Given the description of an element on the screen output the (x, y) to click on. 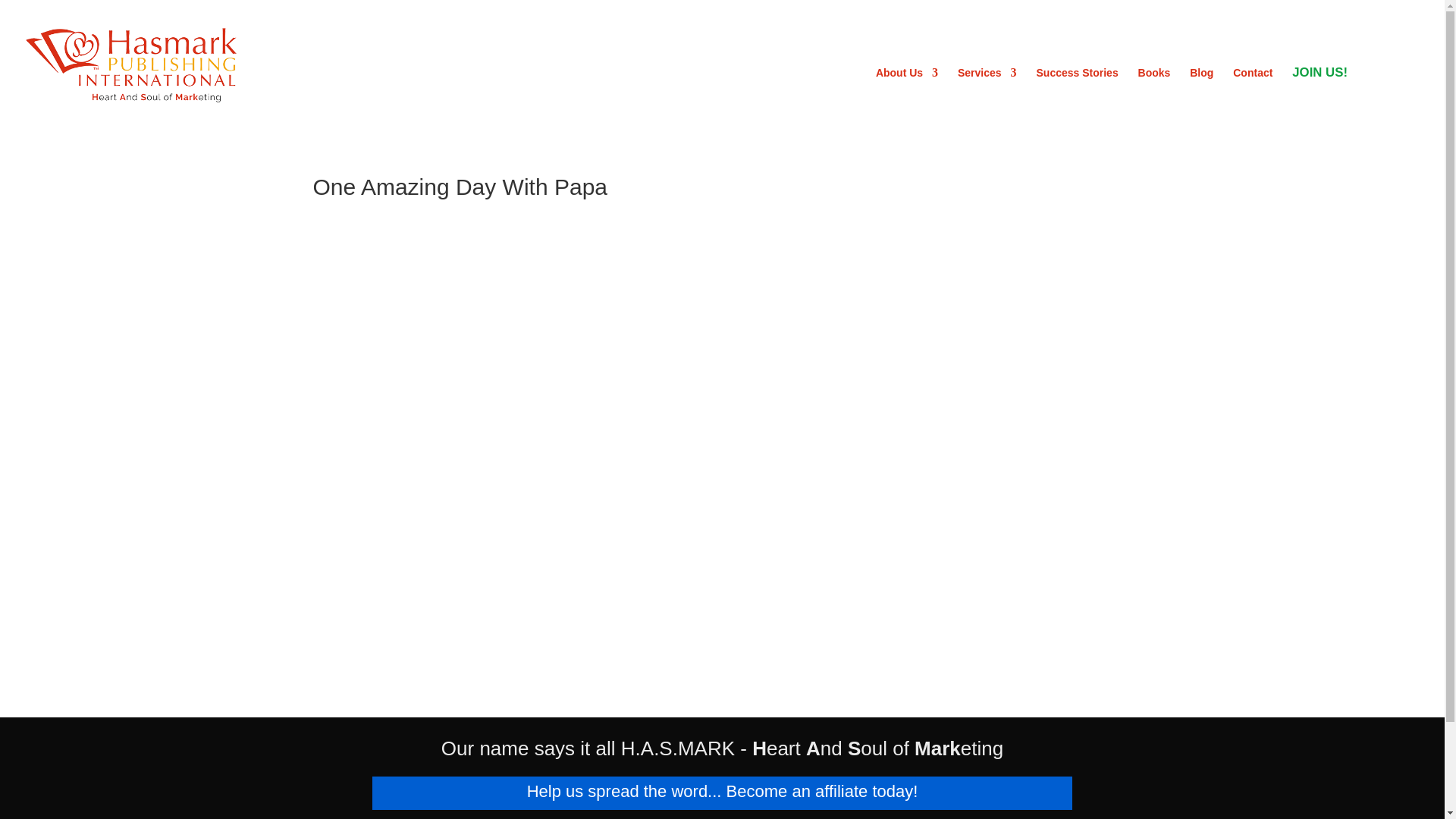
Services (987, 92)
Success Stories (1076, 92)
Help us spread the word... Become an affiliate today! (722, 791)
JOIN US! (1320, 92)
About Us (906, 92)
